Given the description of an element on the screen output the (x, y) to click on. 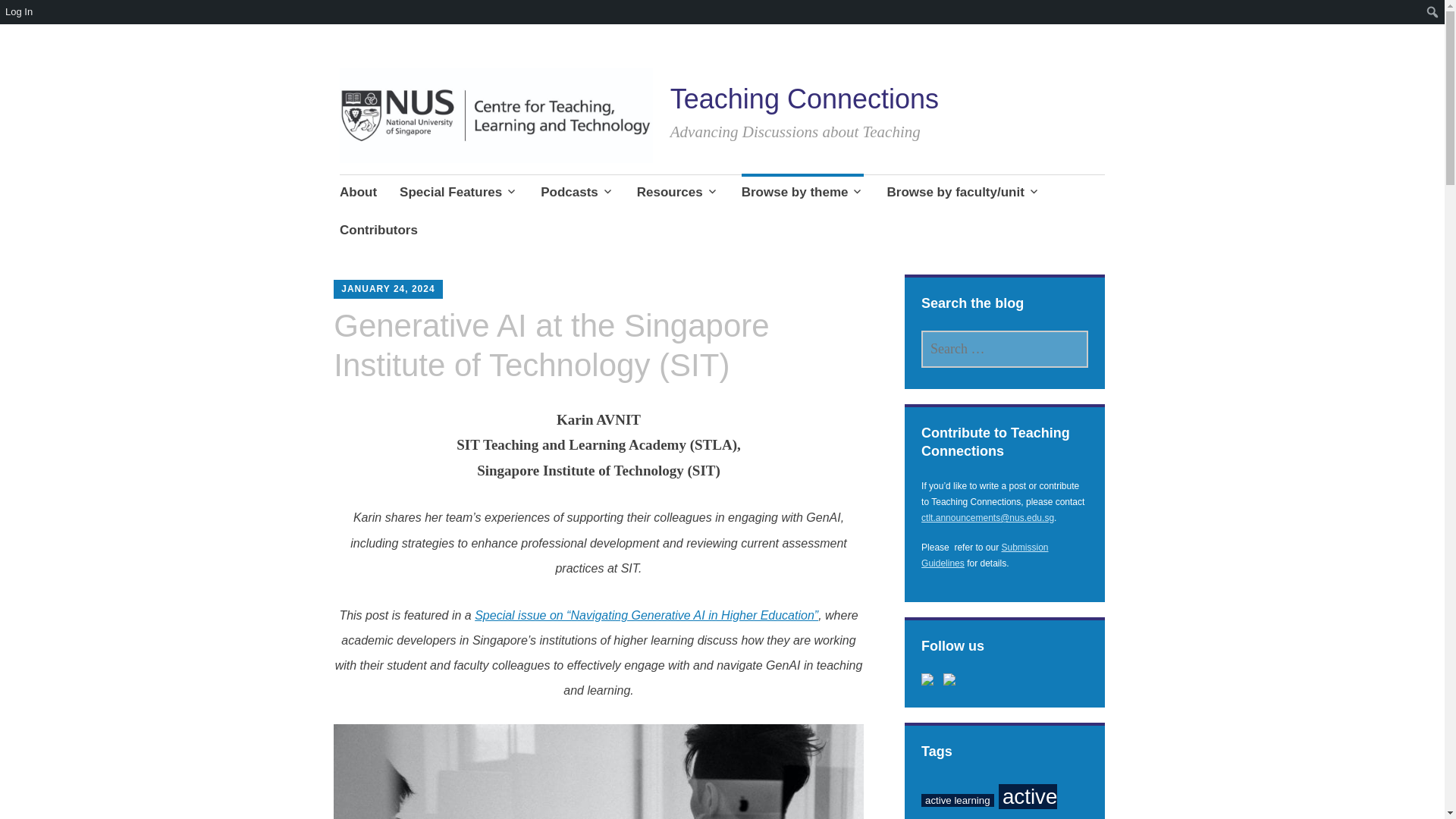
Podcasts (577, 192)
Special Features (458, 192)
About (358, 192)
Teaching Connections (804, 98)
